Given the description of an element on the screen output the (x, y) to click on. 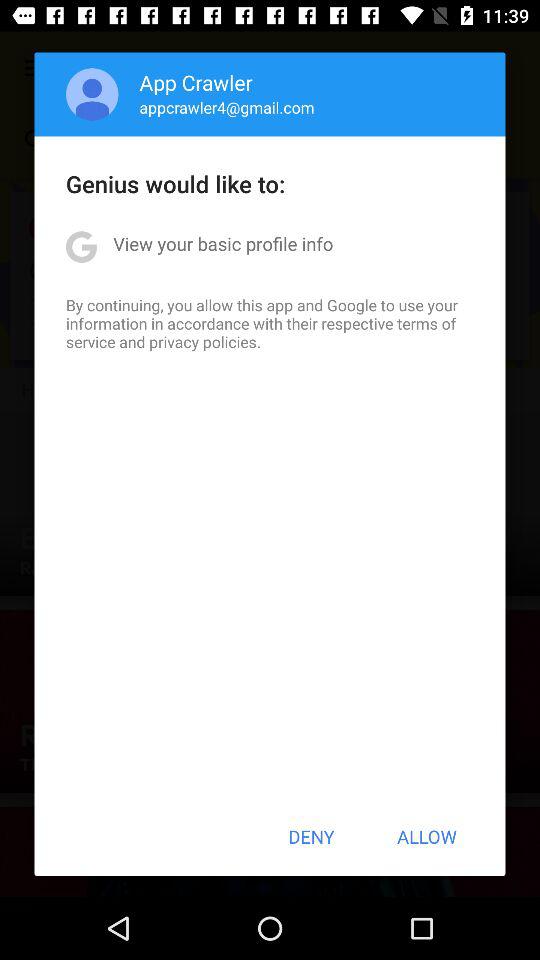
tap the item next to the allow button (311, 836)
